Given the description of an element on the screen output the (x, y) to click on. 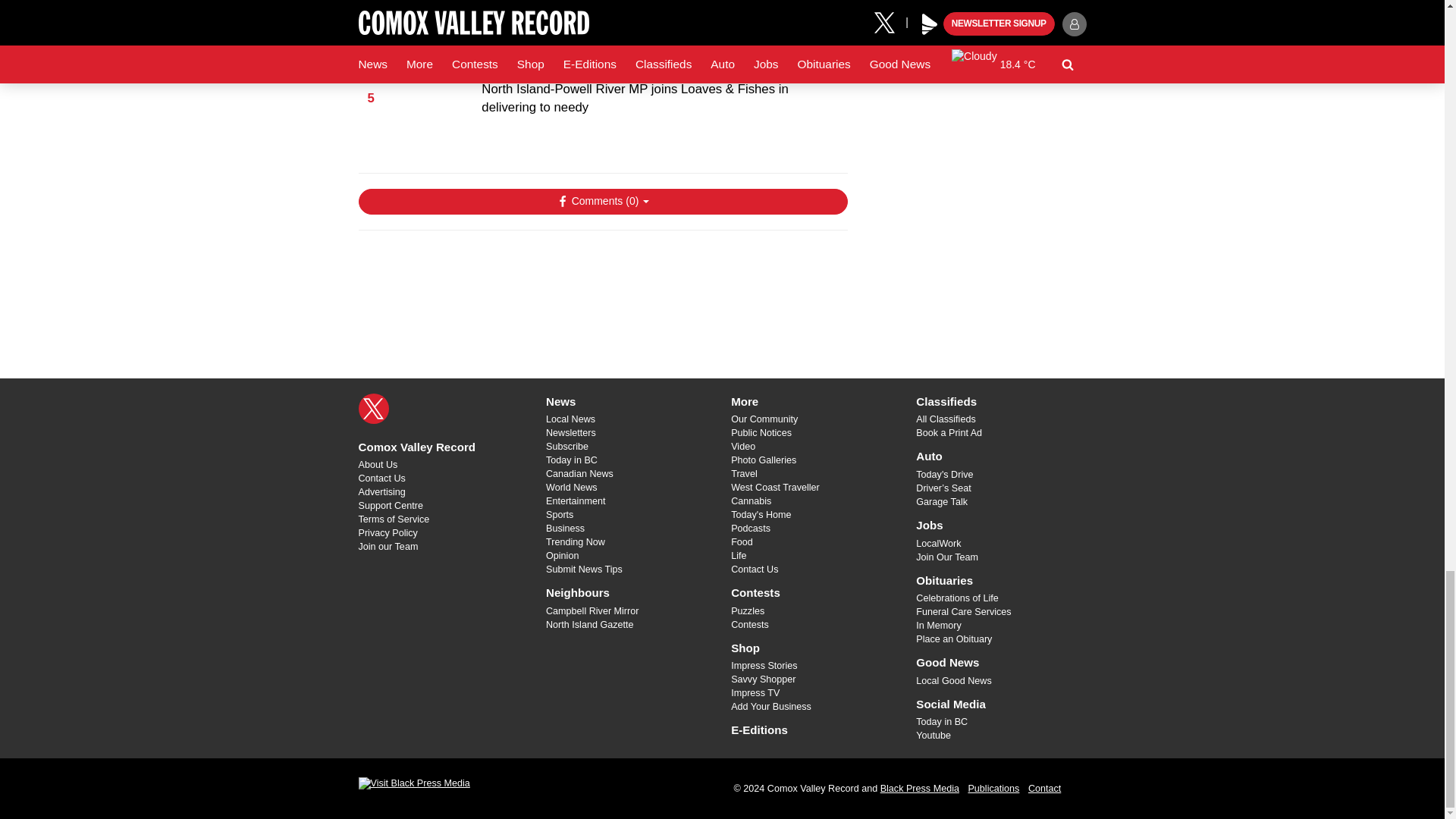
Show Comments (602, 201)
X (373, 408)
